Given the description of an element on the screen output the (x, y) to click on. 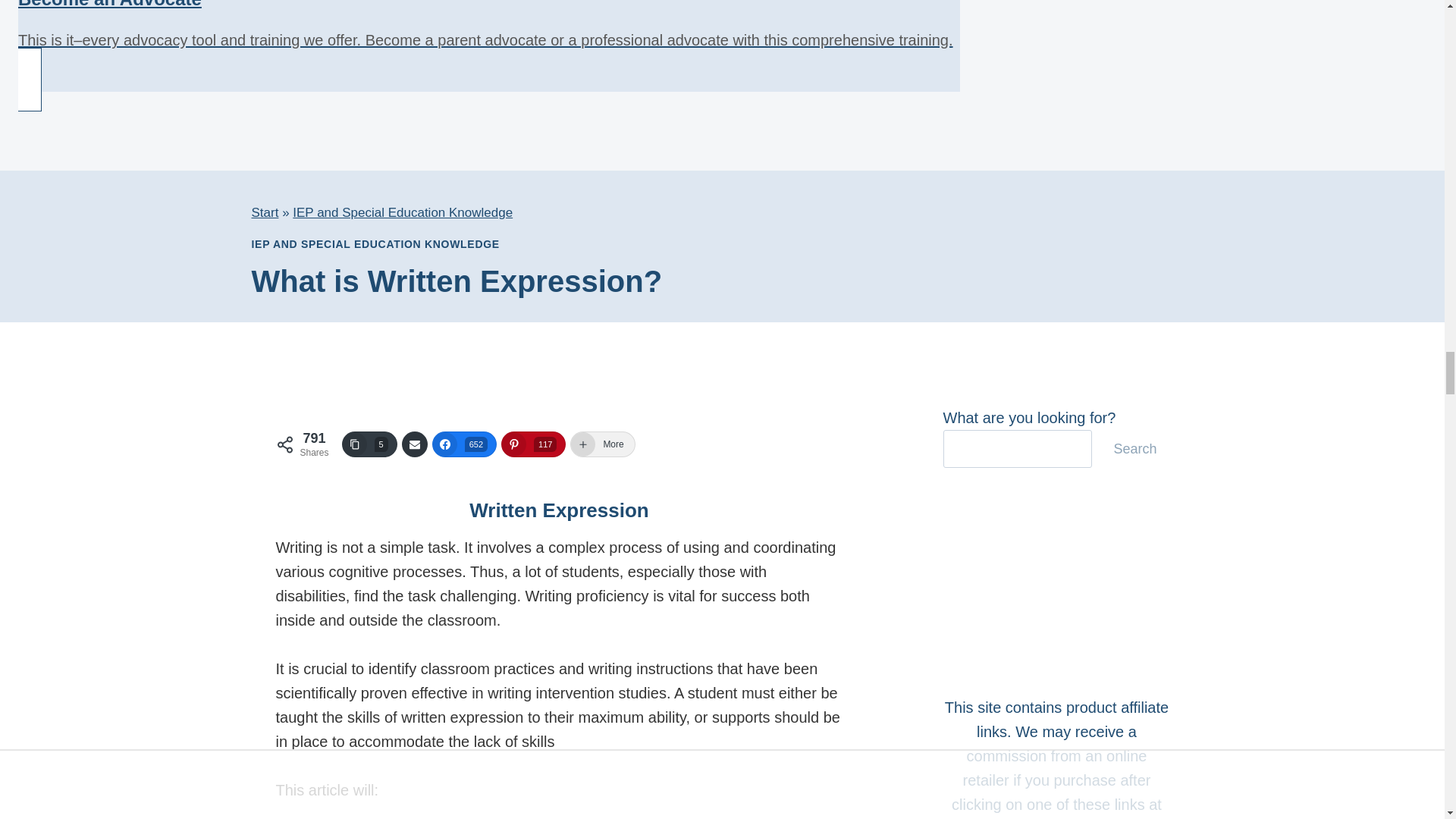
IEP and Special Education Knowledge (402, 212)
More (602, 444)
5 (369, 444)
IEP AND SPECIAL EDUCATION KNOWLEDGE (375, 244)
Start (265, 212)
117 (533, 444)
652 (464, 444)
